Given the description of an element on the screen output the (x, y) to click on. 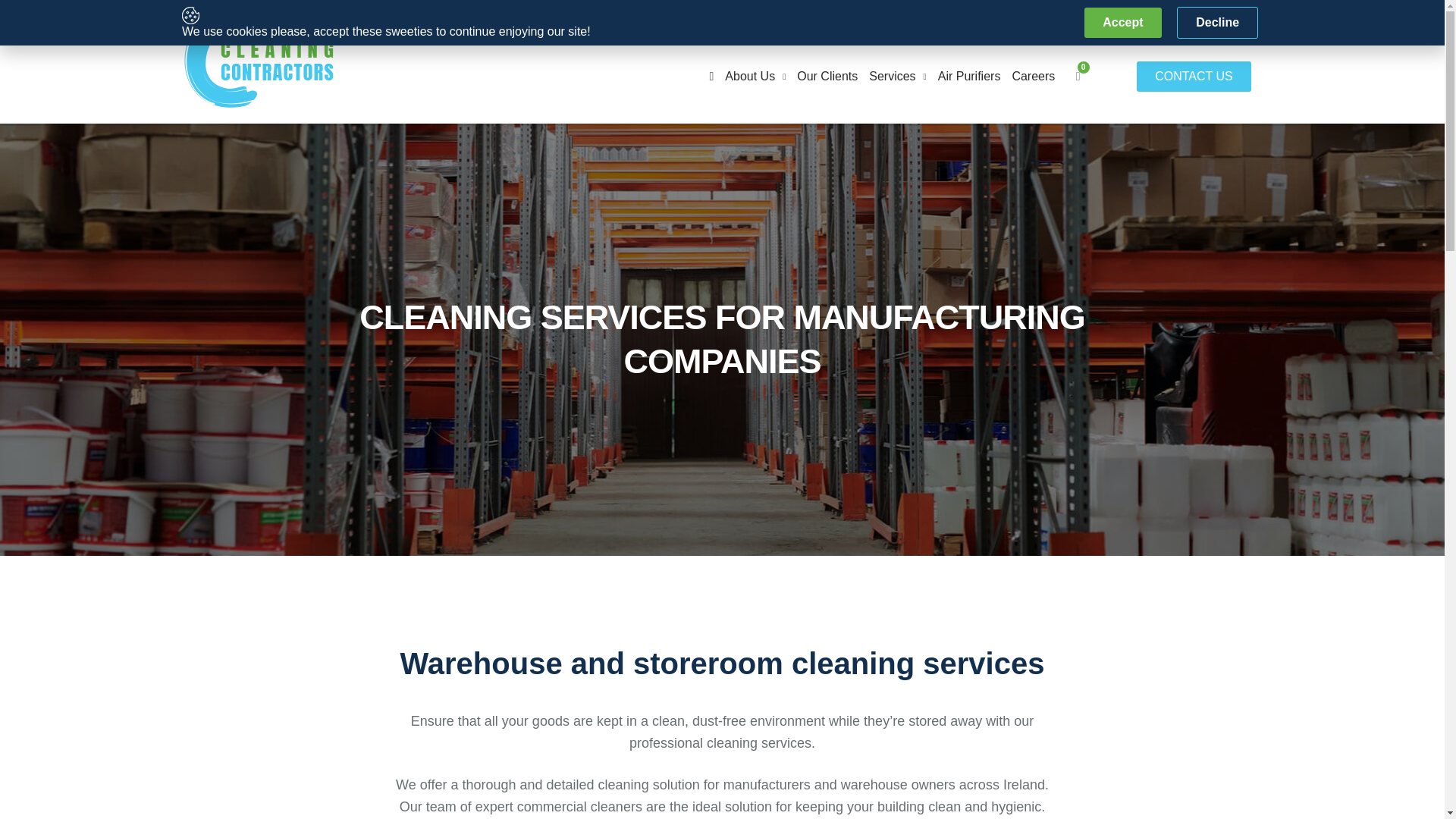
0 (1078, 76)
About Us (755, 76)
Services (897, 76)
CONTACT US (1193, 76)
Air Purifiers (969, 76)
Our Clients (826, 76)
Careers (1032, 76)
